Given the description of an element on the screen output the (x, y) to click on. 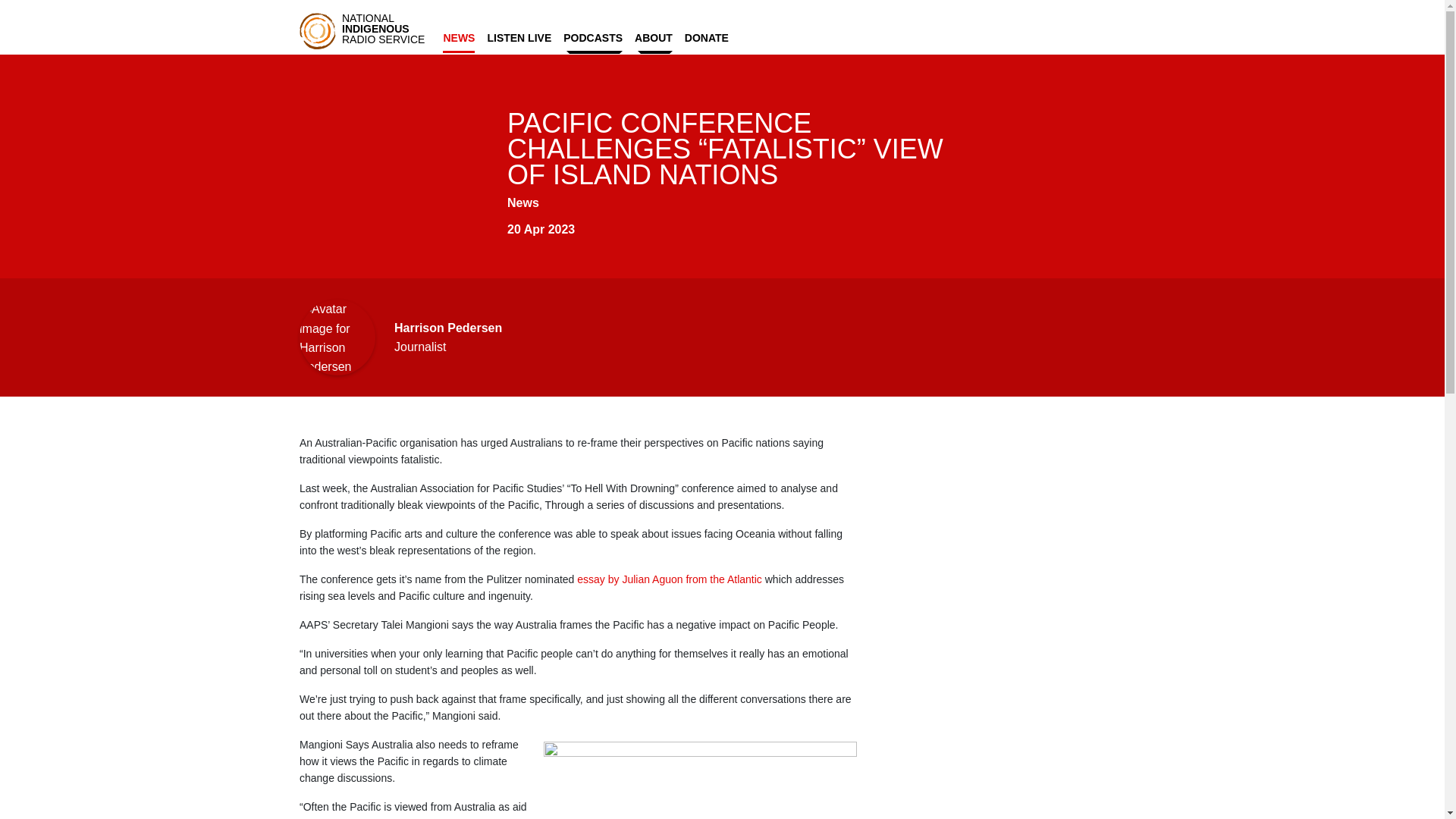
Listen Live (518, 34)
DONATE (706, 34)
NEWS (458, 34)
News (522, 202)
Donate (706, 34)
LISTEN LIVE (518, 34)
News (458, 34)
Contact Us (1121, 36)
Search (1085, 36)
essay by Julian Aguon from the Atlantic (667, 579)
Podcasts (592, 36)
Harrison Pedersen (448, 327)
Search (1085, 36)
About (653, 36)
PODCASTS (592, 36)
